Given the description of an element on the screen output the (x, y) to click on. 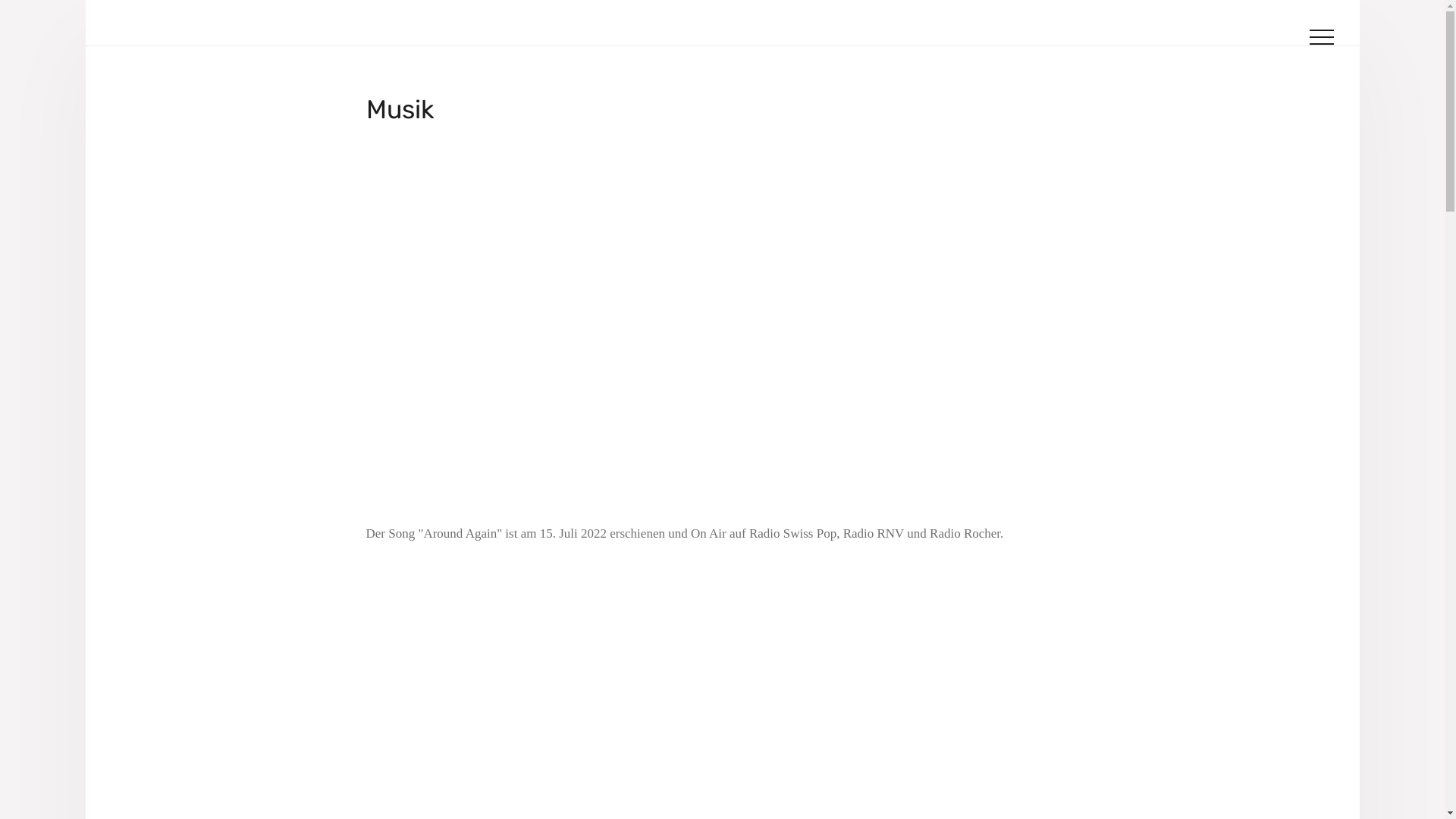
YouTube video player Element type: hover (577, 326)
